Given the description of an element on the screen output the (x, y) to click on. 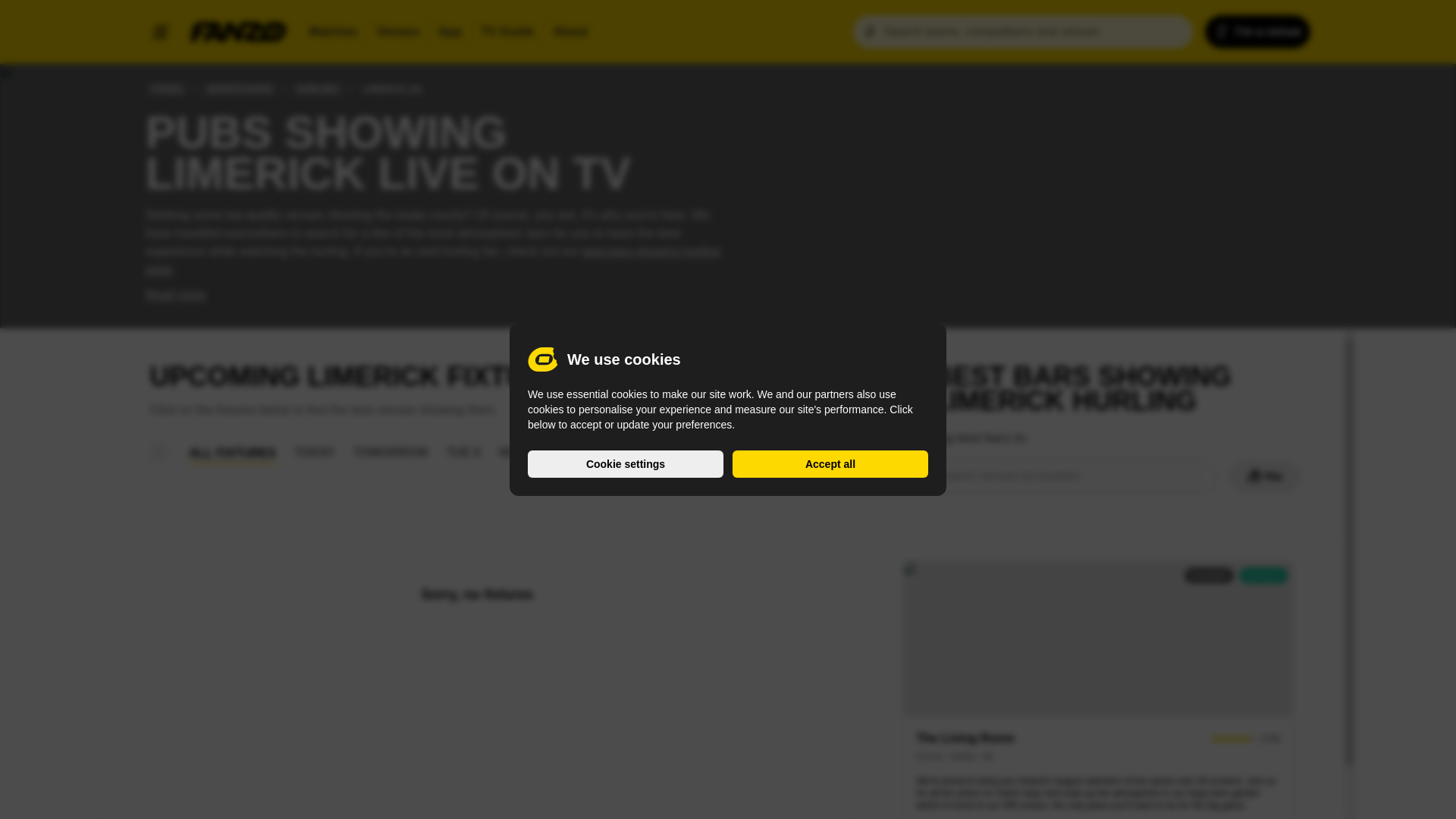
Search teams, competitions and venues (1022, 31)
Matches (332, 31)
I'm a venue (1257, 31)
About (1238, 575)
Venues (569, 31)
TV Guide (398, 31)
App (507, 31)
